Given the description of an element on the screen output the (x, y) to click on. 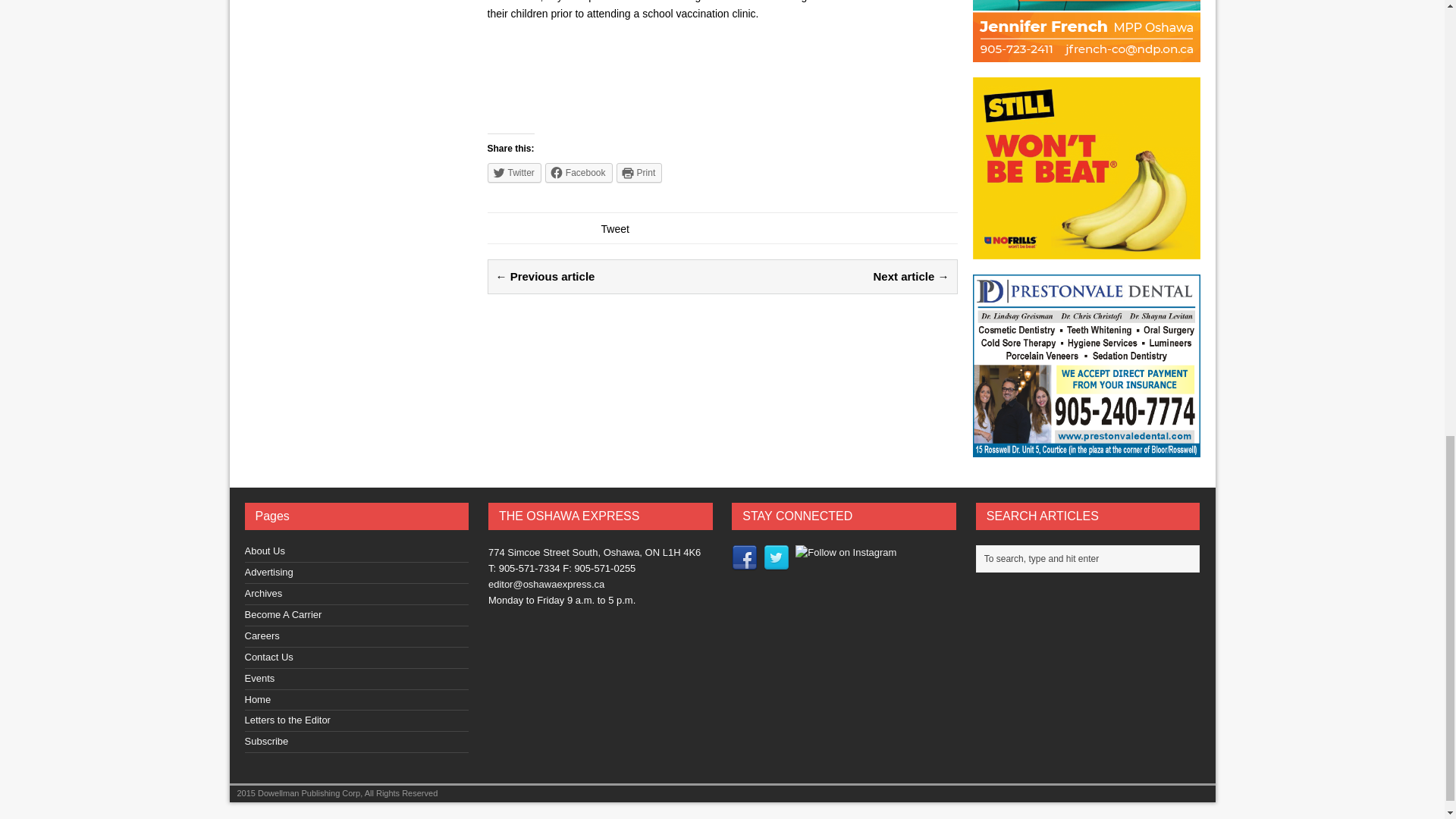
Click to share on Facebook (578, 172)
To search, type and hit enter (1091, 558)
Click to share on Twitter (513, 172)
Click to print (638, 172)
